Given the description of an element on the screen output the (x, y) to click on. 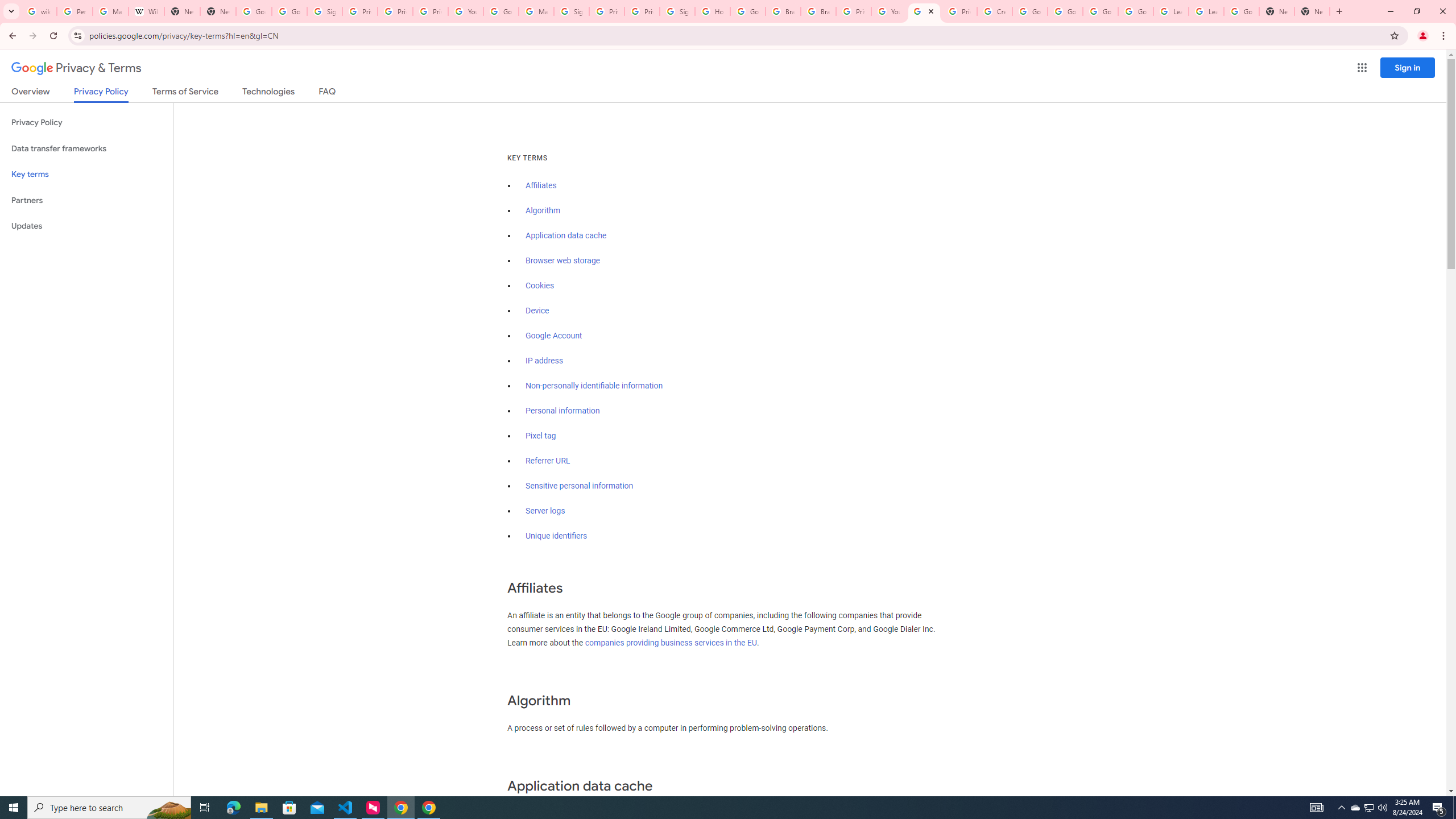
Brand Resource Center (783, 11)
Wikipedia:Edit requests - Wikipedia (145, 11)
IP address (544, 361)
Sign in - Google Accounts (571, 11)
Unique identifiers (556, 536)
